Given the description of an element on the screen output the (x, y) to click on. 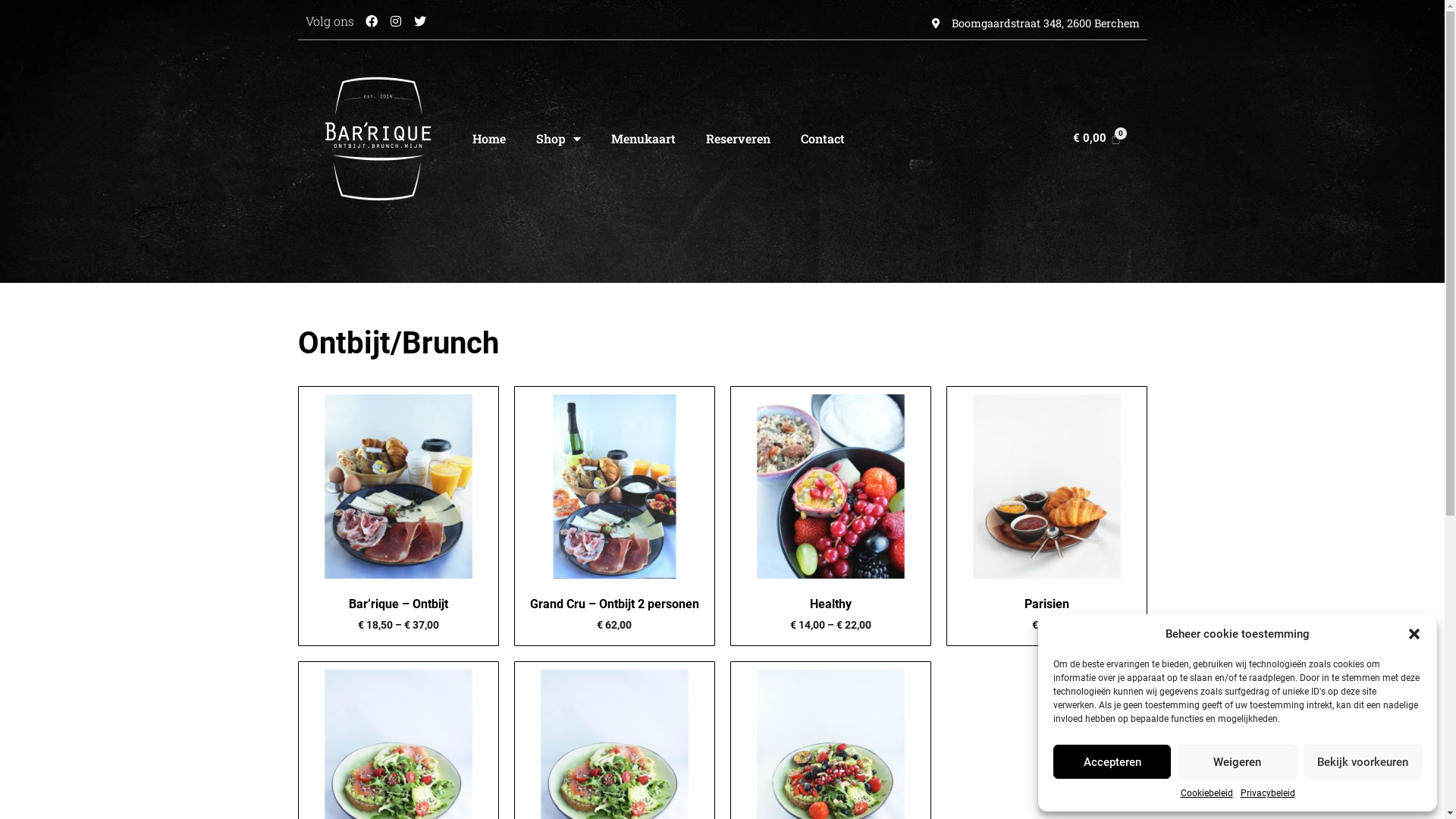
Contact Element type: text (822, 138)
Cookiebeleid Element type: text (1205, 793)
Accepteren Element type: text (1111, 761)
Shop Element type: text (557, 138)
Bekijk voorkeuren Element type: text (1362, 761)
Weigeren Element type: text (1236, 761)
Home Element type: text (488, 138)
Privacybeleid Element type: text (1267, 793)
Menukaart Element type: text (643, 138)
Reserveren Element type: text (737, 138)
